Given the description of an element on the screen output the (x, y) to click on. 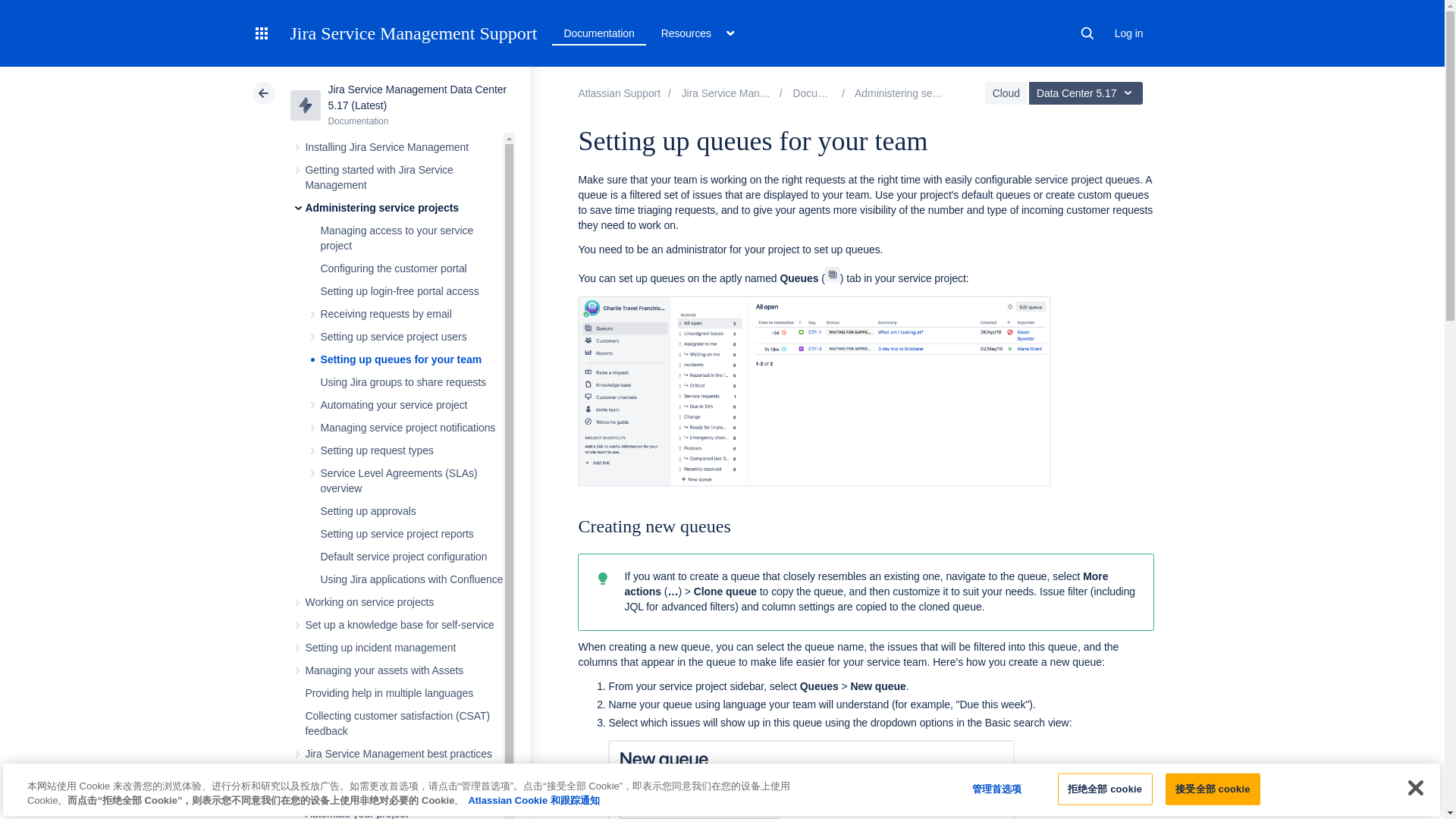
Log in (1128, 33)
Jira Service Management Support (413, 33)
Jira Service Management (752, 92)
Documentation (599, 33)
Search (1087, 33)
Administering service projects (924, 92)
Atlassian Support (619, 92)
